Given the description of an element on the screen output the (x, y) to click on. 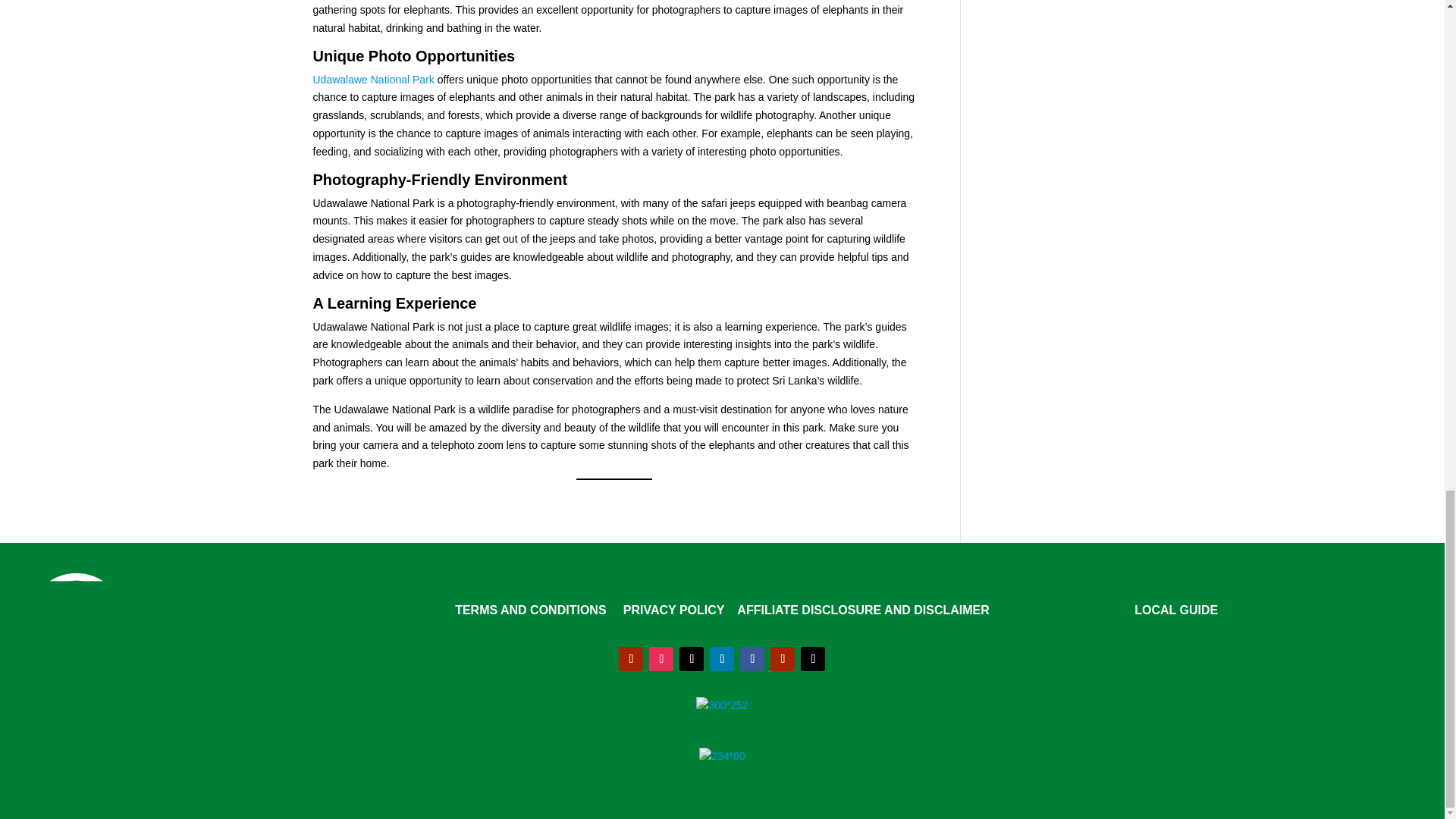
Follow on TikTok (691, 658)
Follow on Instagram (660, 658)
Follow on Youtube (630, 658)
Follow on Quora (782, 658)
Follow on X (812, 658)
Udawalawe National Park (373, 79)
Follow on Facebook (751, 658)
Follow on LinkedIn (721, 658)
